Given the description of an element on the screen output the (x, y) to click on. 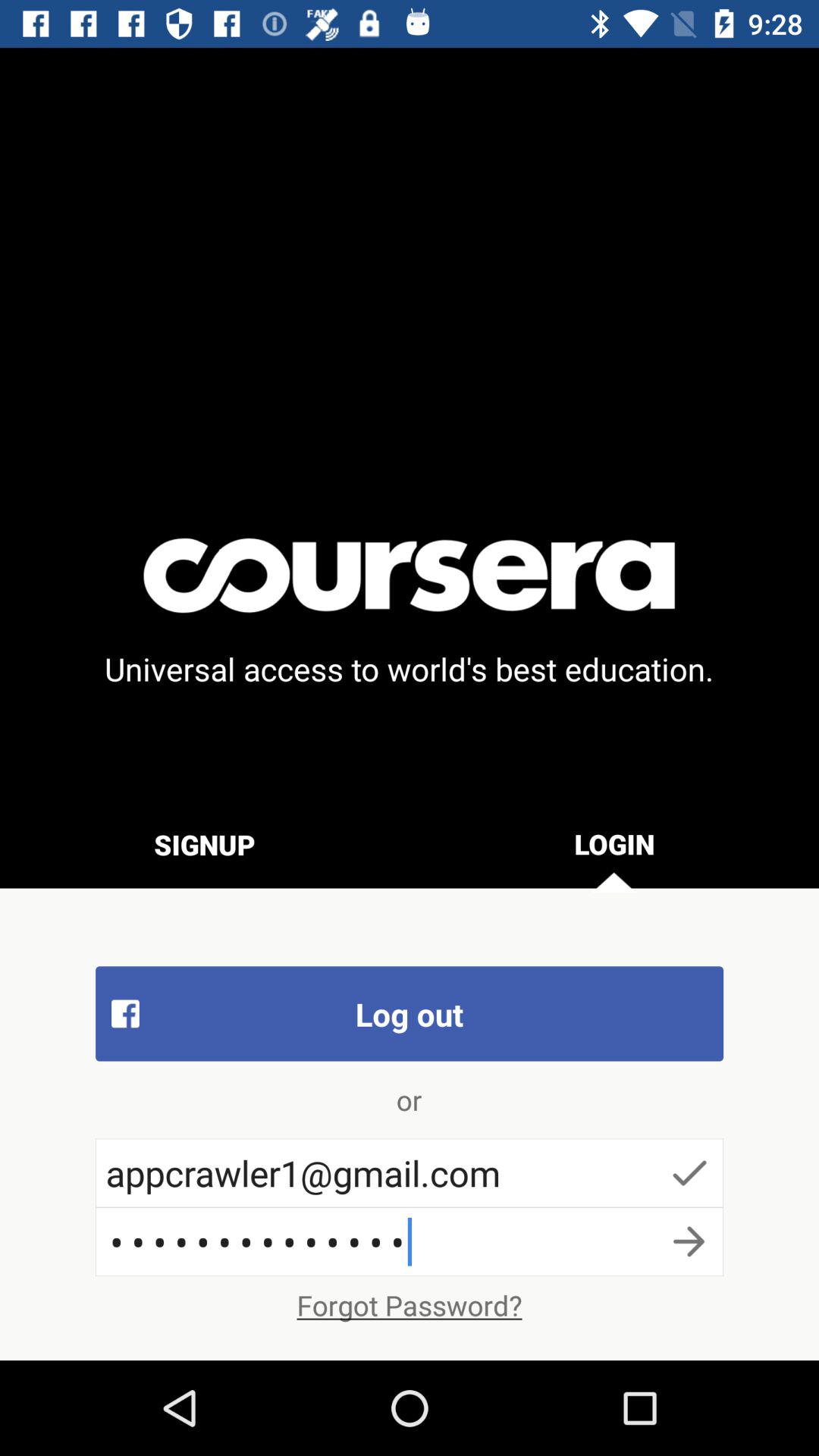
open log out (409, 1013)
